Given the description of an element on the screen output the (x, y) to click on. 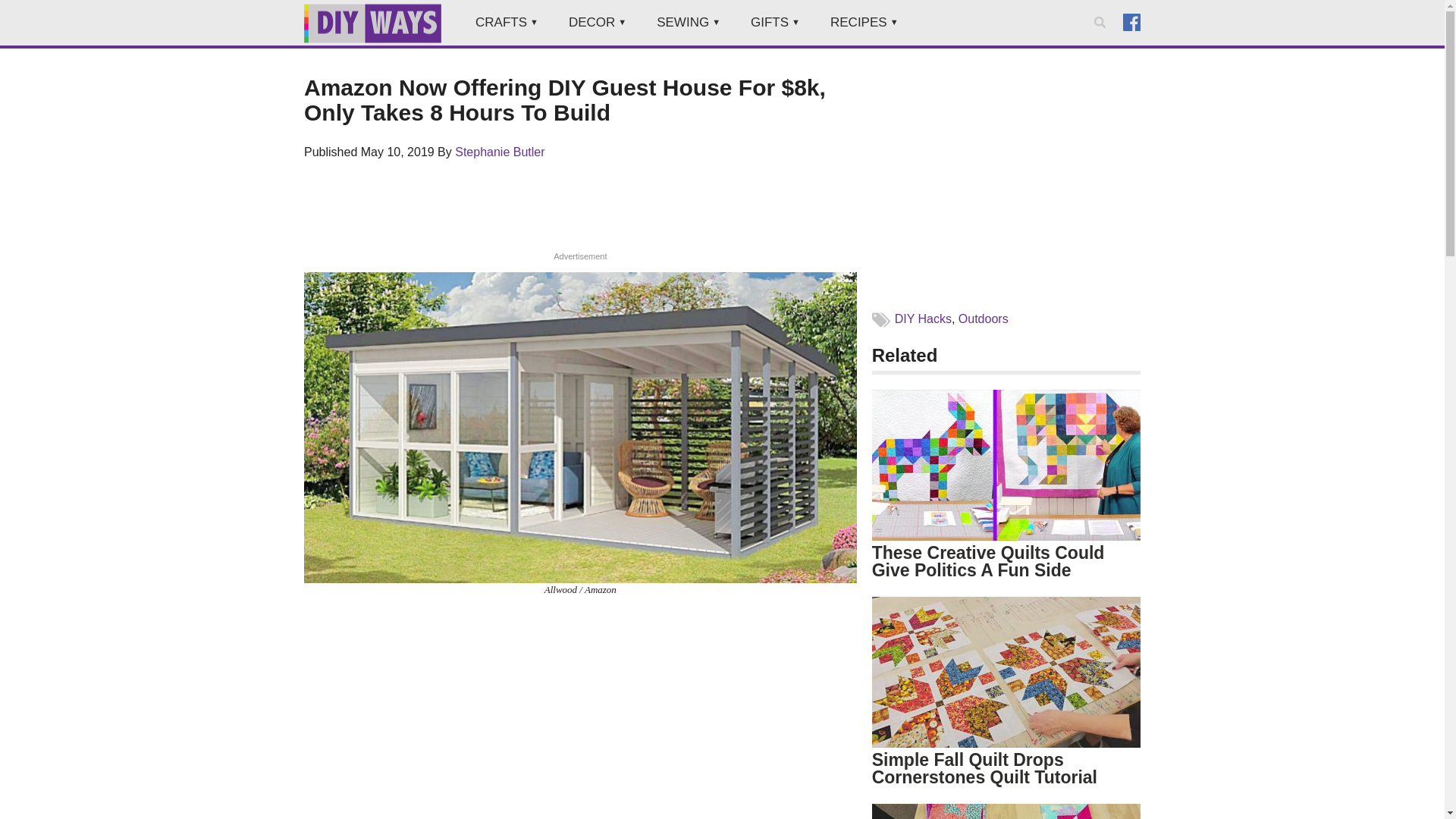
Outdoors (983, 318)
Stephanie Butler (499, 151)
Advertisement (579, 718)
DIY Hacks (923, 318)
Advertisement (580, 215)
Advertisement (1006, 182)
DIY Ways on Facebook (1131, 21)
Search (1102, 42)
Search (1102, 42)
Search (1102, 42)
